Given the description of an element on the screen output the (x, y) to click on. 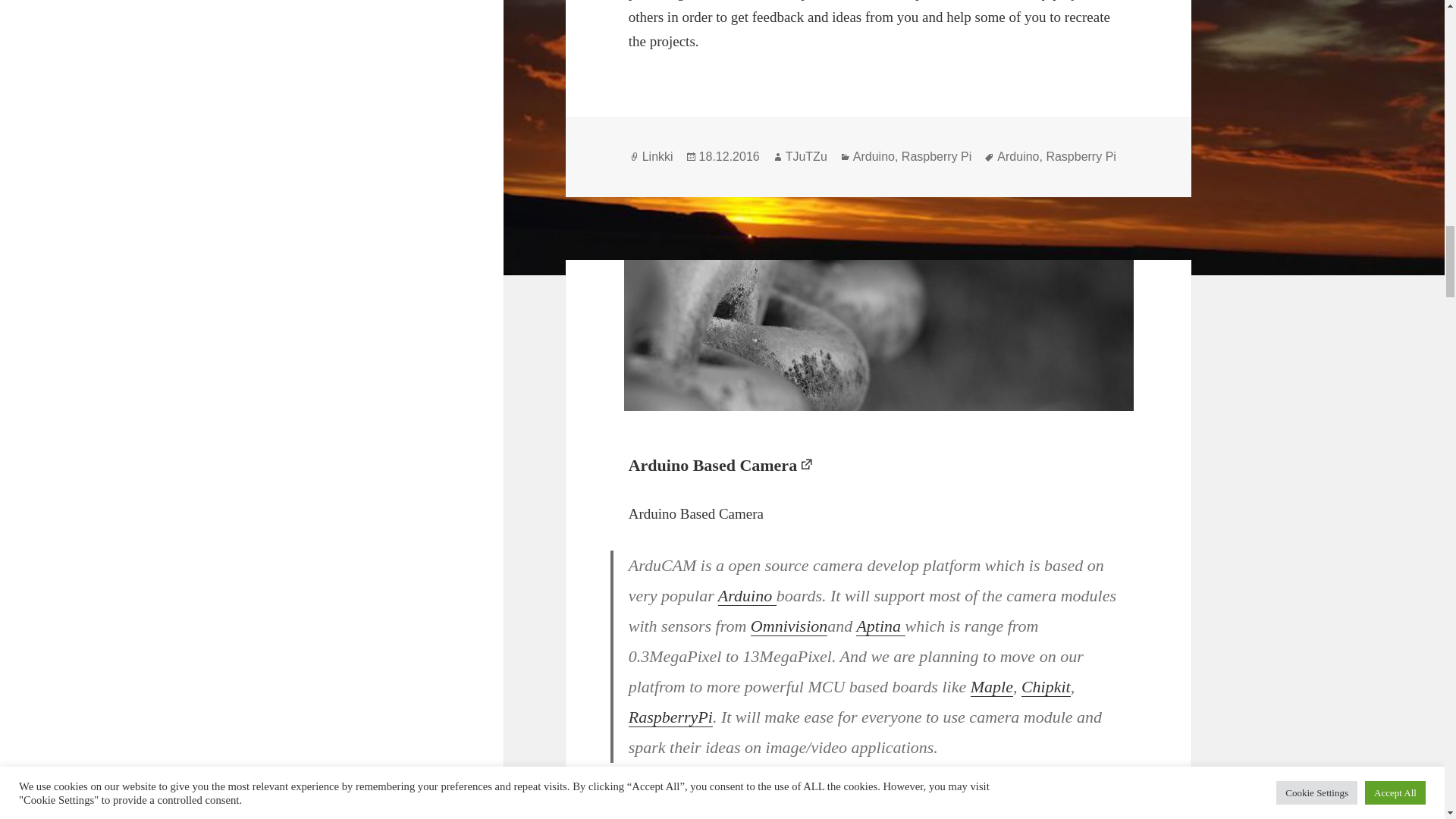
Omnivision (789, 626)
Maple board (992, 686)
Aptina (880, 626)
Chipkit board (1046, 686)
Arduino.cc (746, 596)
